Given the description of an element on the screen output the (x, y) to click on. 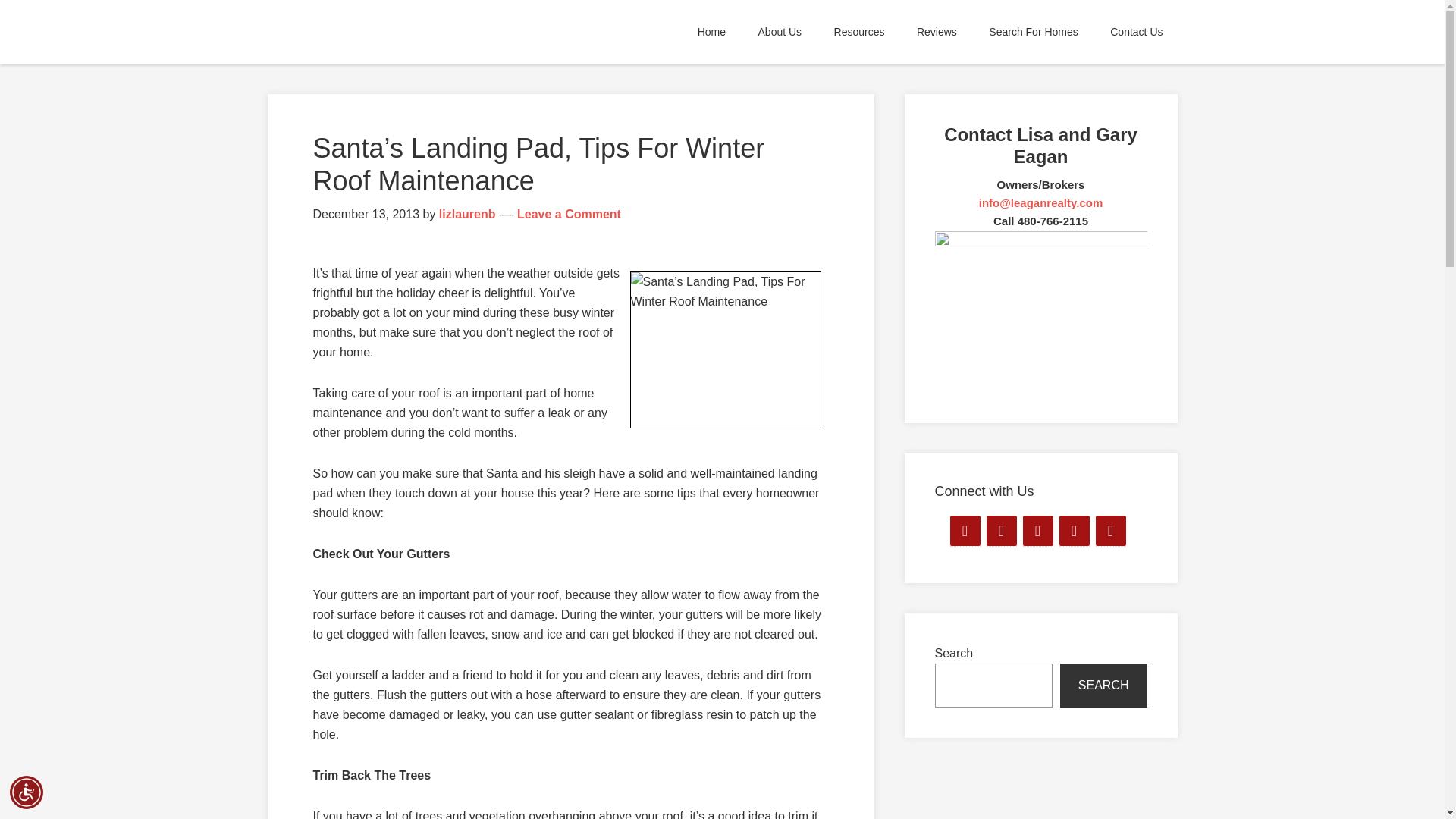
lizlaurenb (467, 214)
Contact Us (1136, 31)
About Us (780, 31)
Leave a Comment (568, 214)
SEARCH (1103, 685)
Resources (859, 31)
Reviews (936, 31)
Search For Homes (1033, 31)
Leagan Realty (403, 31)
Accessibility Menu (26, 792)
Home (710, 31)
